Given the description of an element on the screen output the (x, y) to click on. 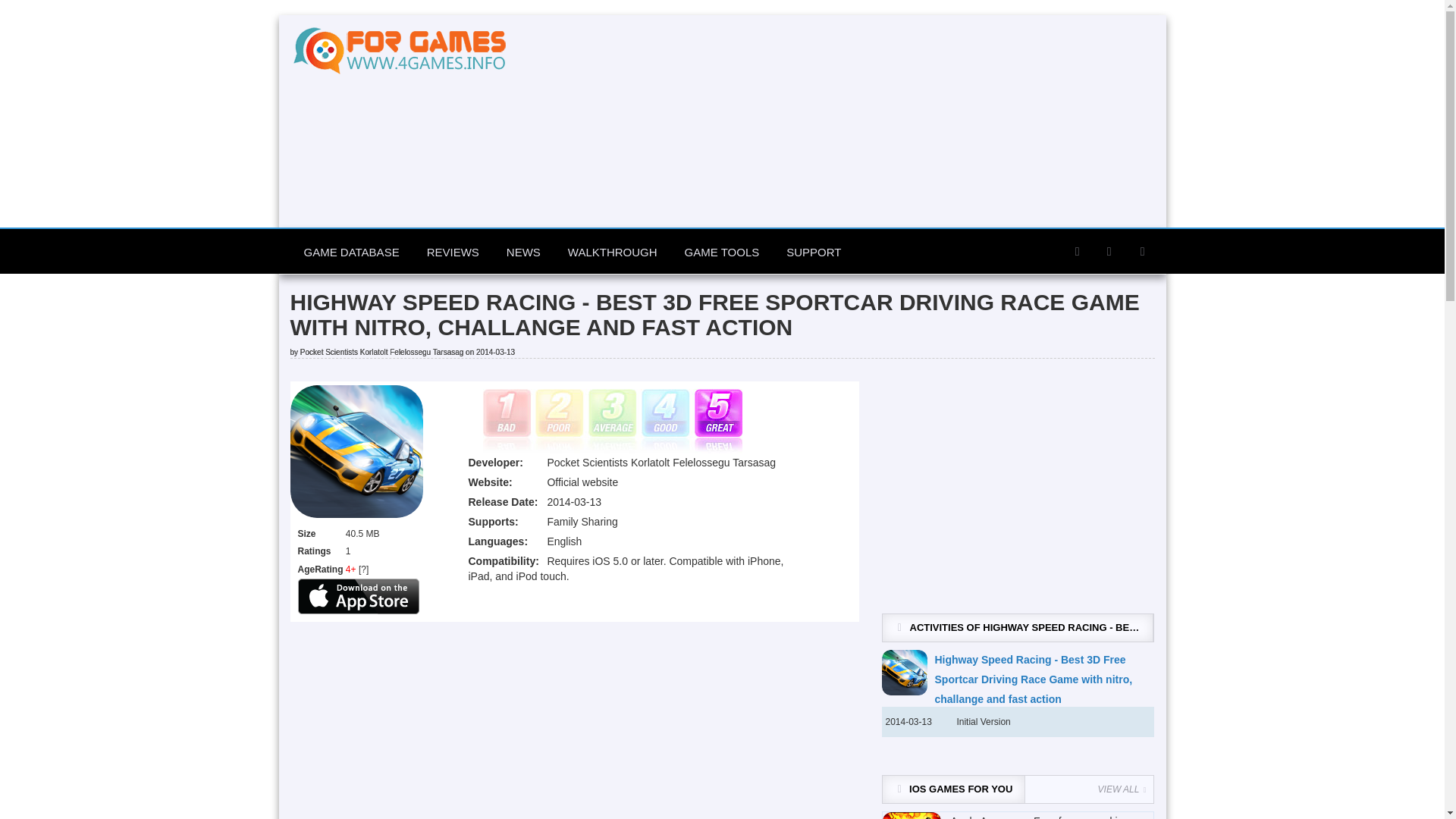
Ratings: 5 (611, 421)
Download on the AppStore (358, 596)
Official website (582, 481)
GAME DATABASE (350, 251)
WHAT ARE THE RATINGS? (363, 569)
Available on the AppStore (358, 594)
Advertisement (574, 720)
